Given the description of an element on the screen output the (x, y) to click on. 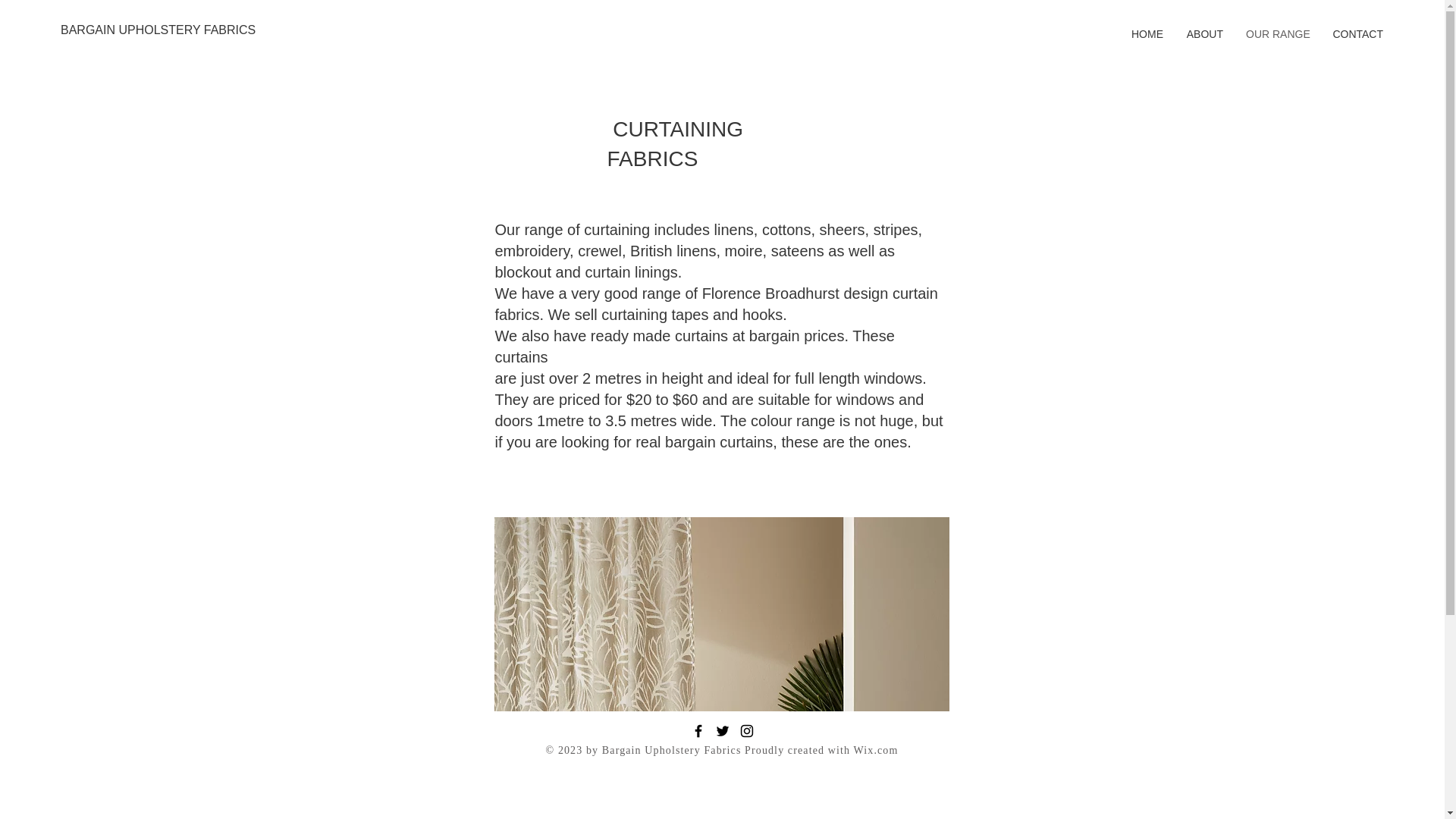
BARGAIN UPHOLSTERY FABRICS (158, 30)
HOME (1146, 34)
ABOUT (1204, 34)
OUR RANGE (1277, 34)
Wix.com (875, 749)
CONTACT (1357, 34)
